Given the description of an element on the screen output the (x, y) to click on. 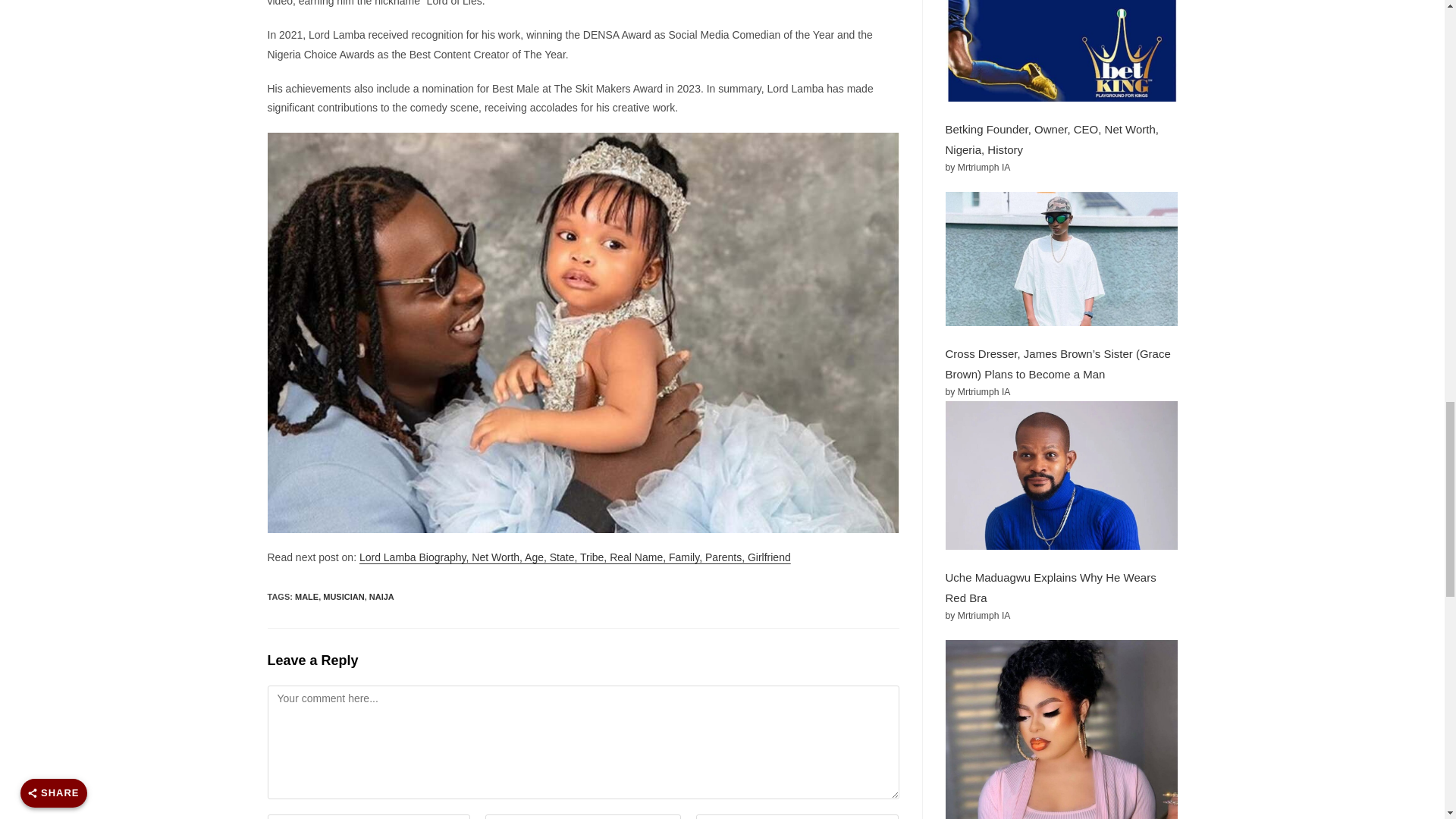
MALE (306, 596)
NAIJA (381, 596)
MUSICIAN (343, 596)
